Given the description of an element on the screen output the (x, y) to click on. 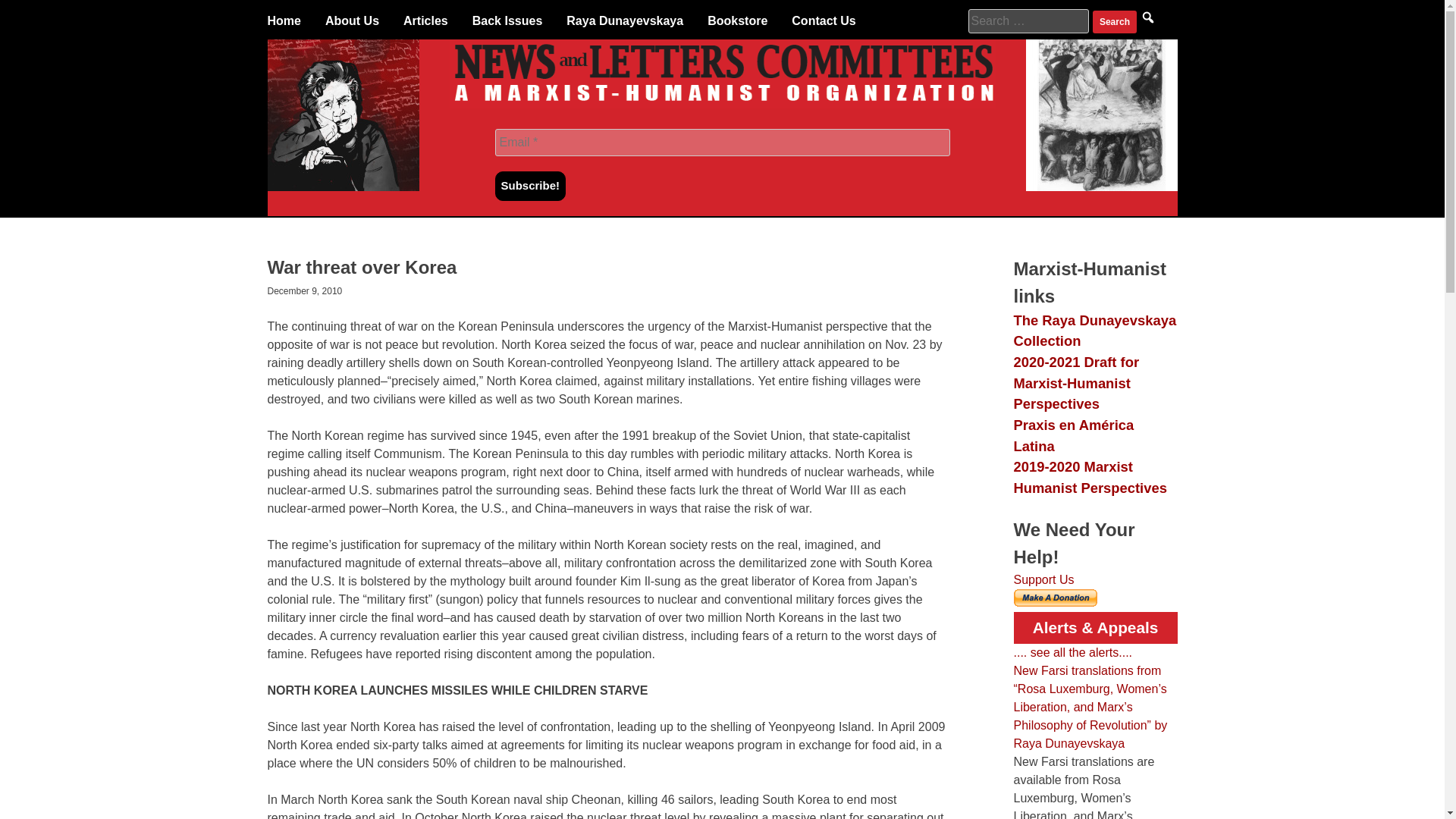
Articles (425, 21)
Bookstore (737, 21)
The Raya Dunayevskaya Collection (1094, 330)
Search (1115, 21)
.... see all the alerts.... (1072, 652)
Subscribe! (530, 185)
Subscribe! (530, 185)
Back Issues (507, 21)
Email (722, 142)
Raya Dunayevskaya (624, 21)
